Given the description of an element on the screen output the (x, y) to click on. 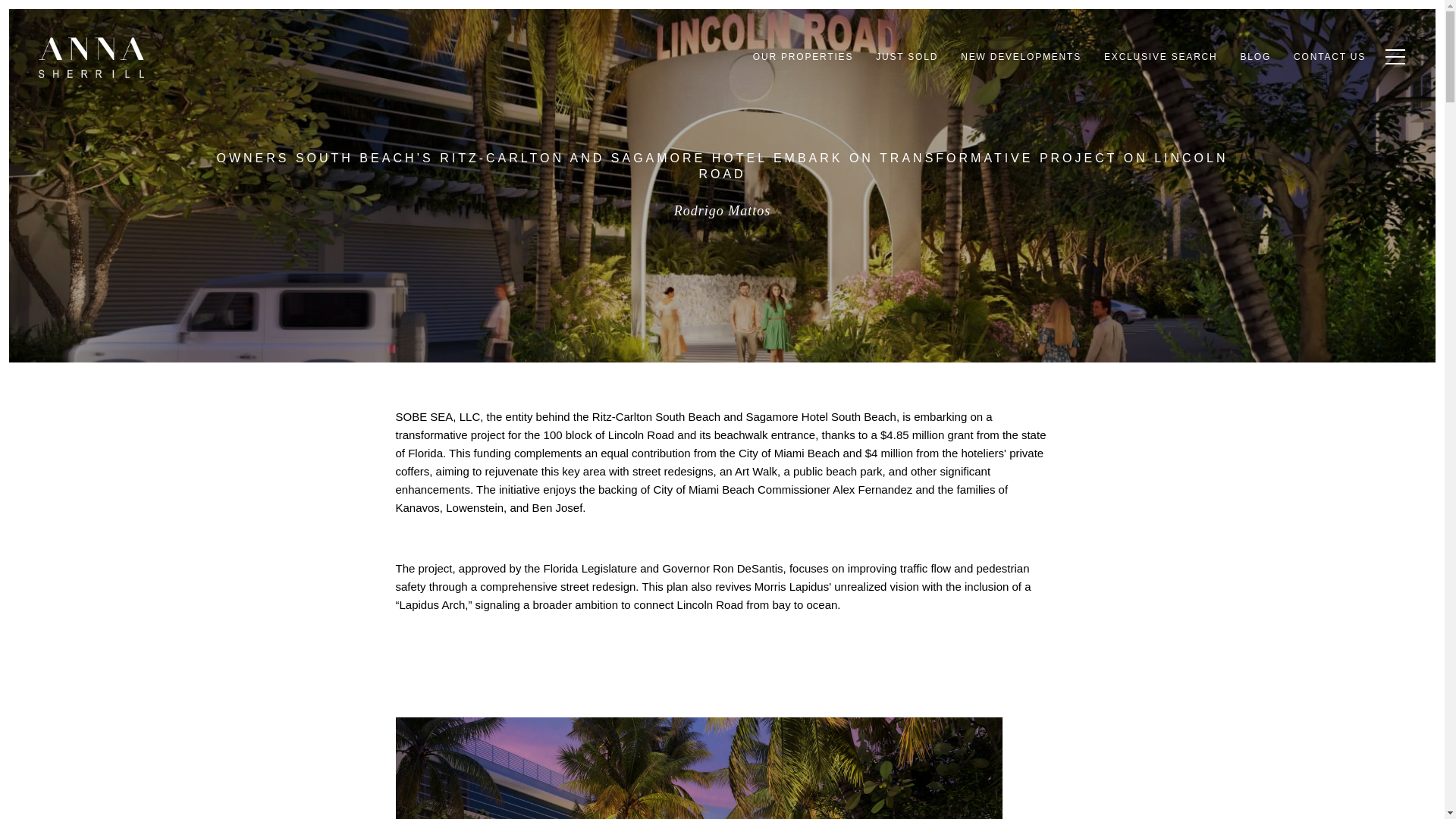
EXCLUSIVE SEARCH (1160, 56)
Toggle navigation (1391, 56)
CONTACT US (1329, 56)
OUR PROPERTIES (802, 56)
NEW DEVELOPMENTS (1021, 56)
JUST SOLD (906, 56)
BLOG (1255, 56)
